Given the description of an element on the screen output the (x, y) to click on. 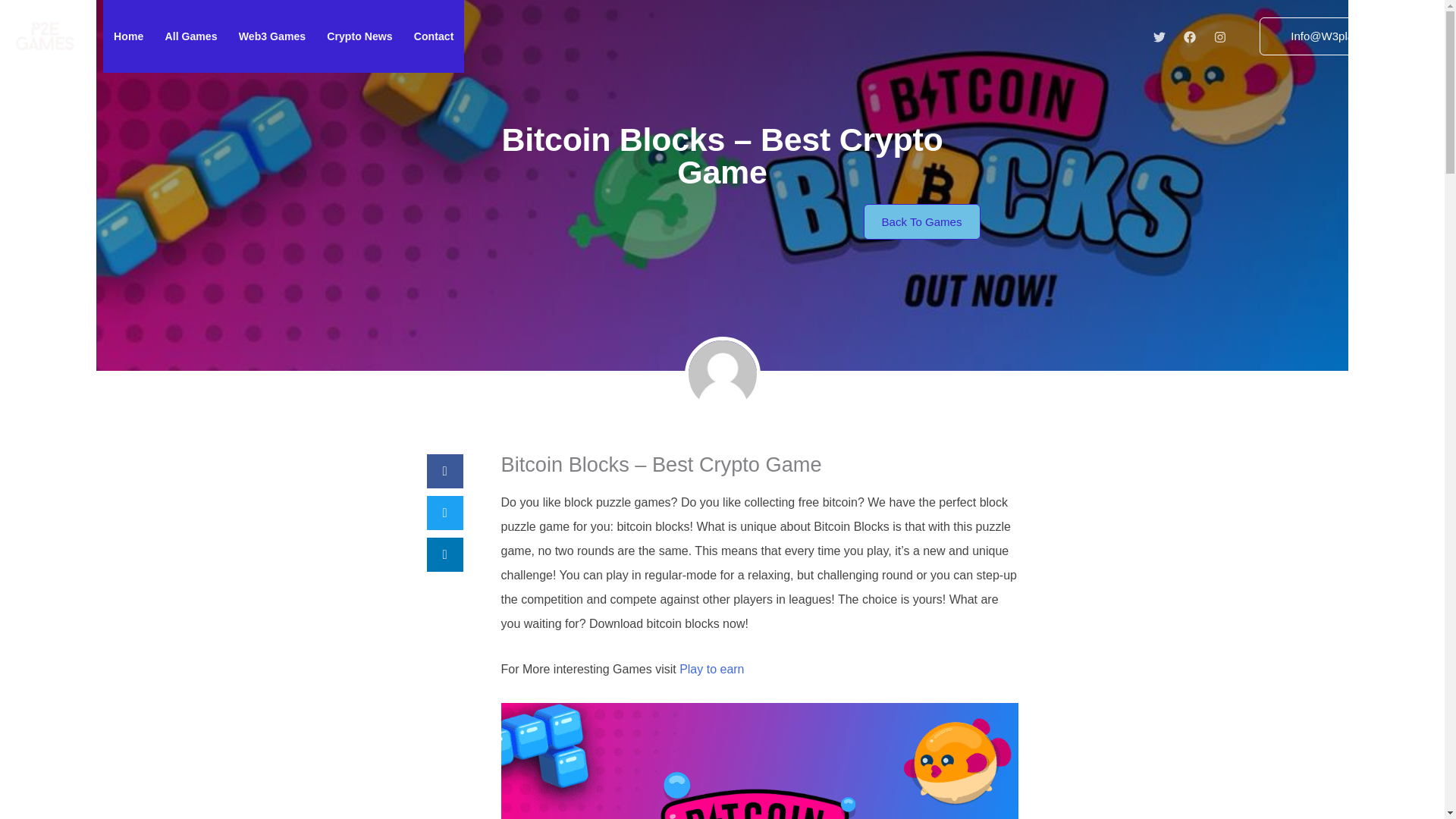
Crypto News (359, 36)
Bitcoin Blocks - Best Crypto Game (758, 760)
Play to earn (711, 668)
All Games (190, 36)
Web3 Games (272, 36)
Back To Games (921, 221)
